Given the description of an element on the screen output the (x, y) to click on. 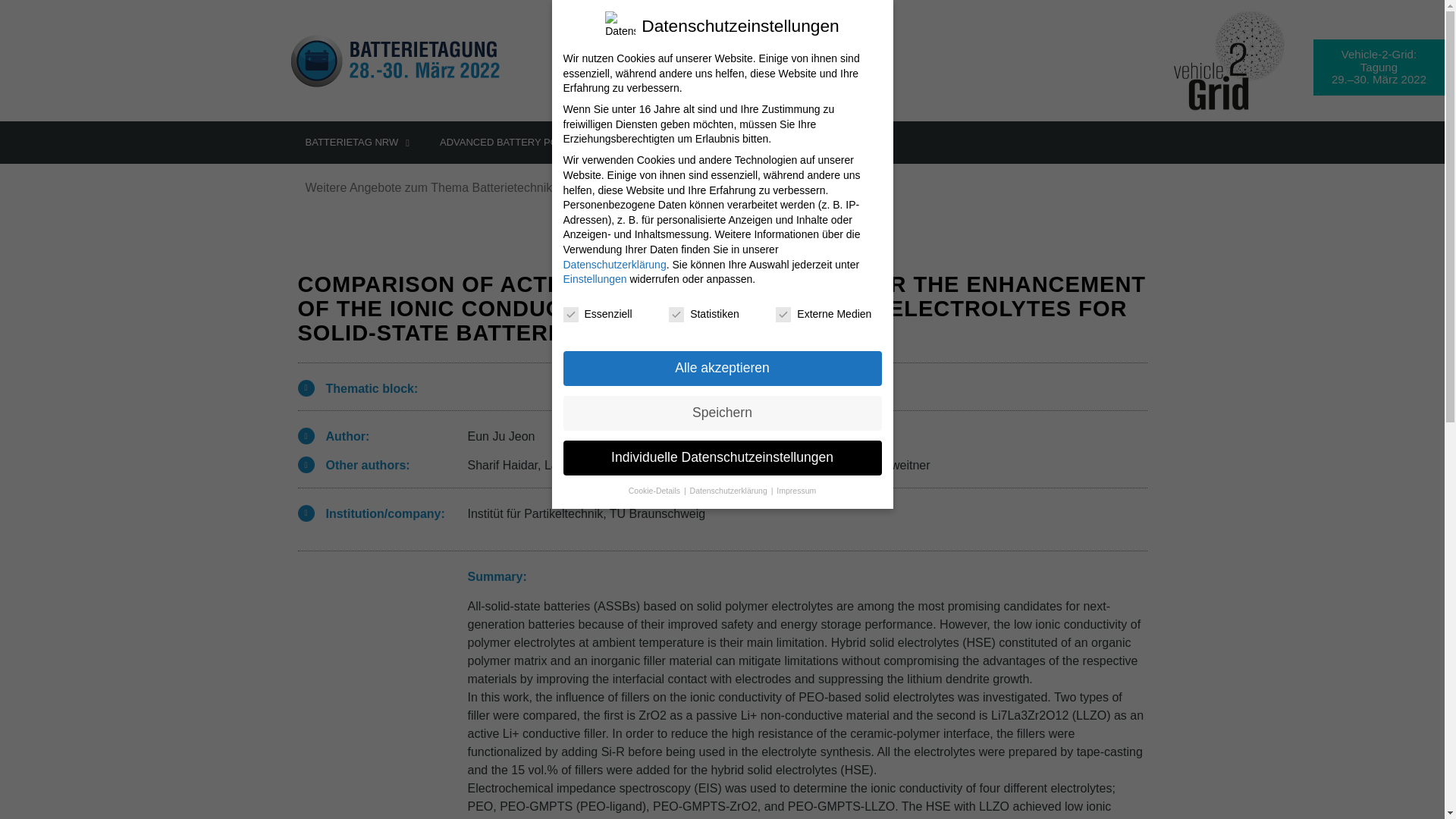
ADVANCED BATTERY POWER (516, 142)
AUSSTELLUNG (663, 142)
AKTUELLE TAGUNG (782, 142)
BATTERIETAG NRW (357, 142)
